Given the description of an element on the screen output the (x, y) to click on. 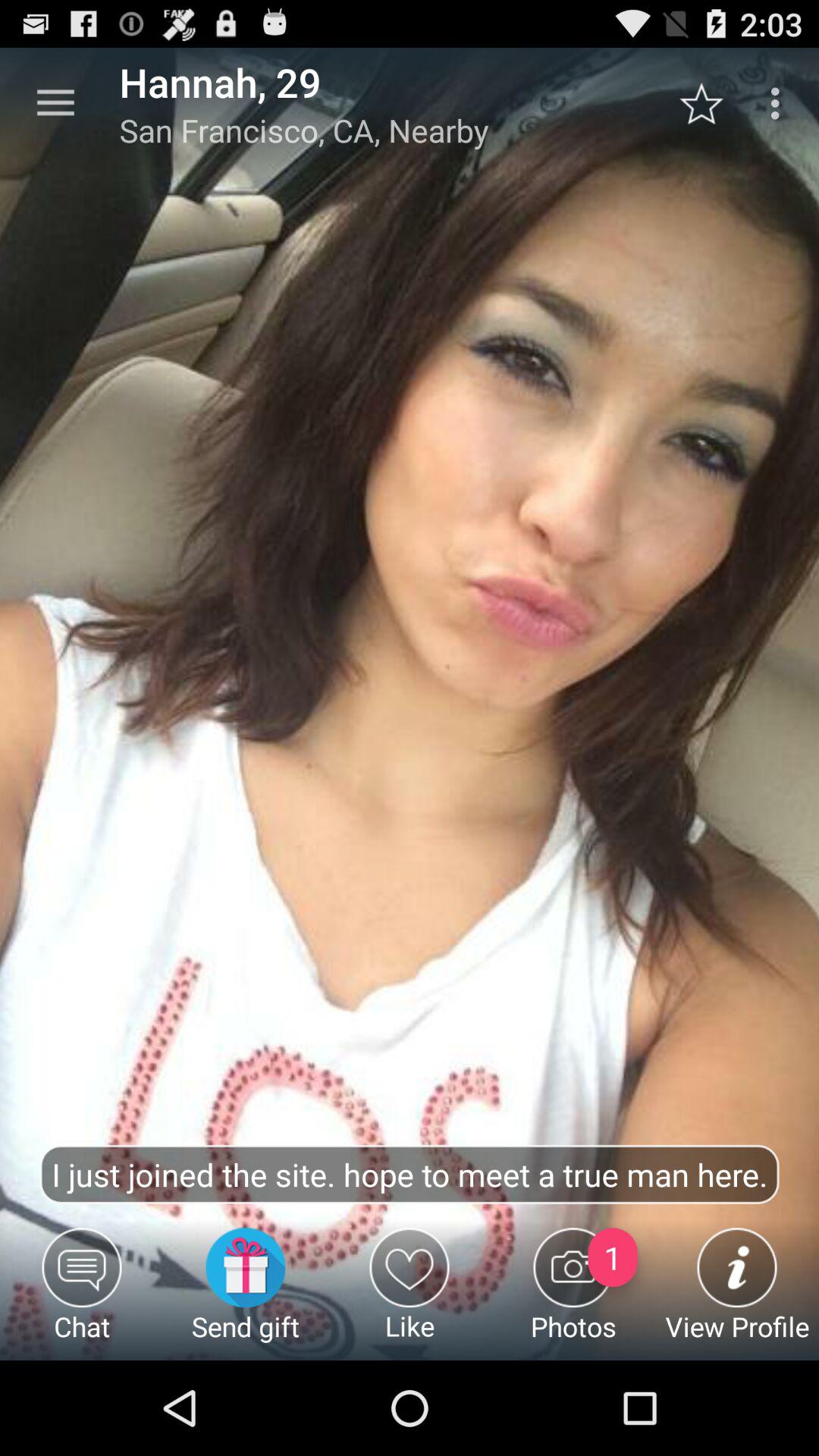
choose icon to the left of the photos item (409, 1293)
